Given the description of an element on the screen output the (x, y) to click on. 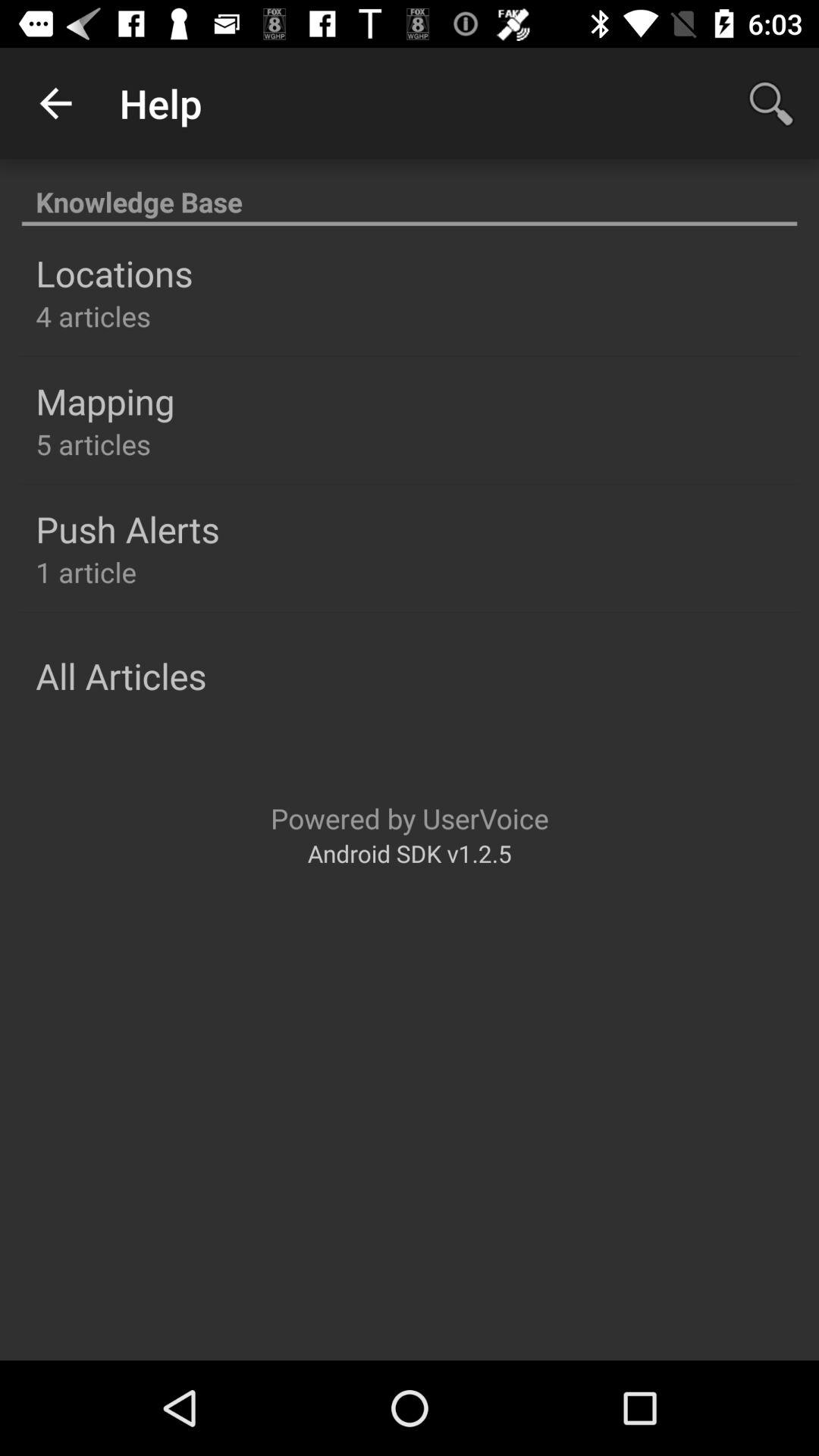
tap app next to help (771, 103)
